Given the description of an element on the screen output the (x, y) to click on. 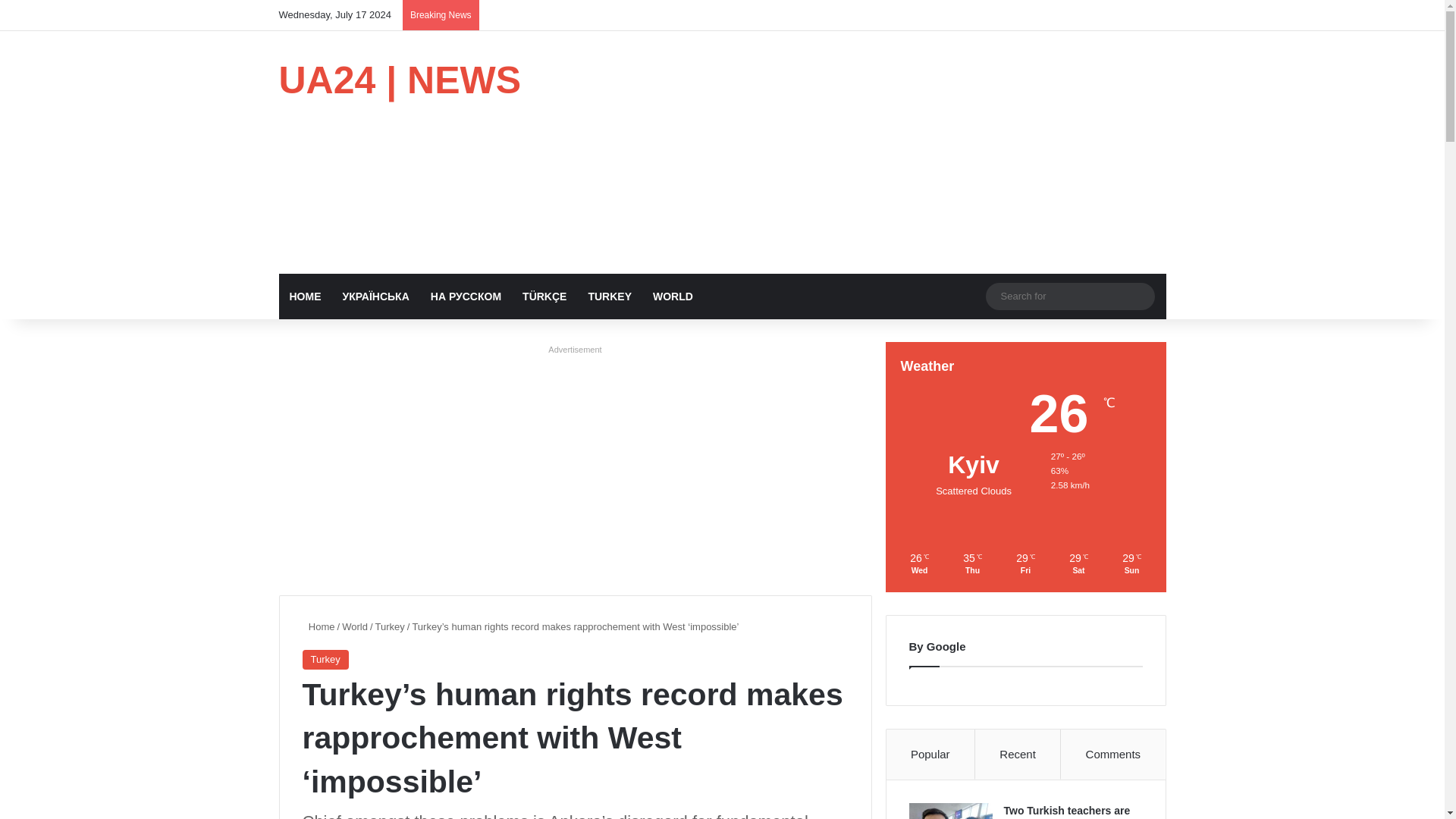
HOME (305, 296)
Turkey (324, 659)
Search for (1069, 295)
Search for (1139, 296)
TURKEY (609, 296)
Home (317, 626)
Turkey (389, 626)
Advertisement (575, 349)
World (355, 626)
WORLD (672, 296)
Advertisement (575, 349)
